Given the description of an element on the screen output the (x, y) to click on. 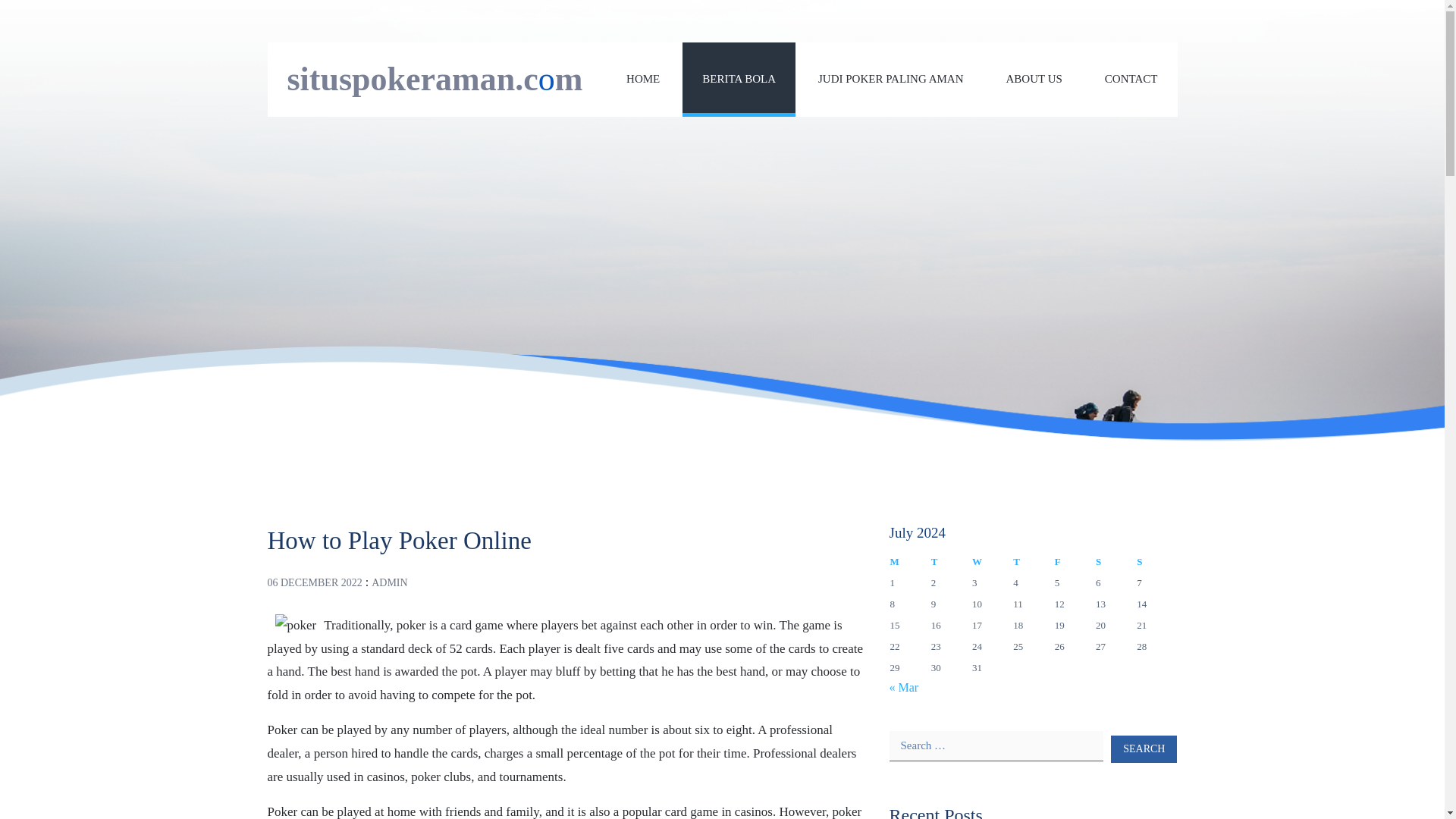
Wednesday (991, 561)
Friday (1074, 561)
Thursday (1031, 561)
CONTACT (1131, 78)
BERITA BOLA (738, 78)
ADMIN (389, 582)
Search (1143, 748)
Sunday (1155, 561)
Search (1143, 748)
06 DECEMBER 2022 (313, 582)
Tuesday (950, 561)
HOME (642, 78)
Search (1143, 748)
Saturday (1114, 561)
situspokeraman.com (434, 78)
